Given the description of an element on the screen output the (x, y) to click on. 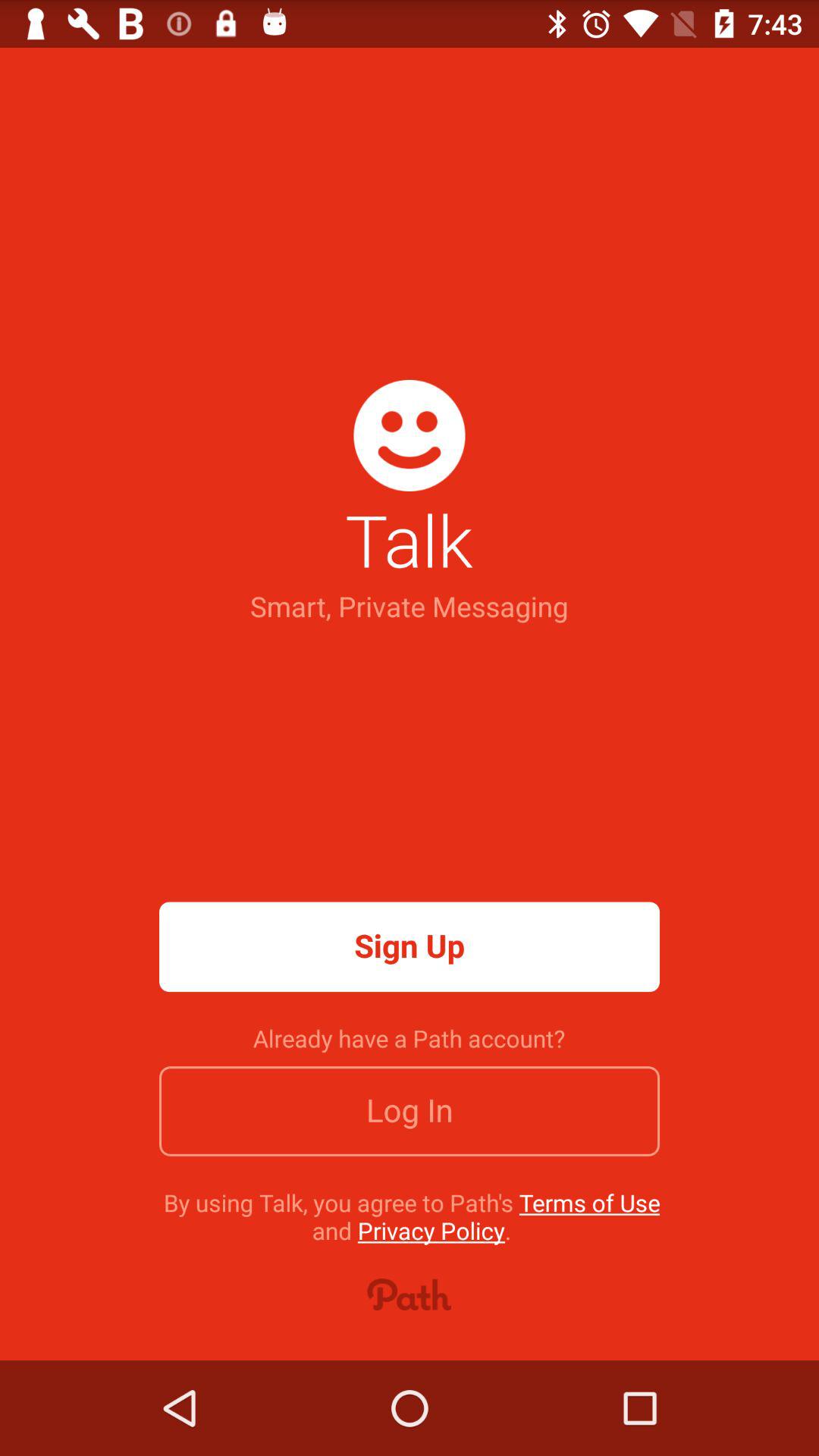
press icon above the by using talk (409, 1111)
